Given the description of an element on the screen output the (x, y) to click on. 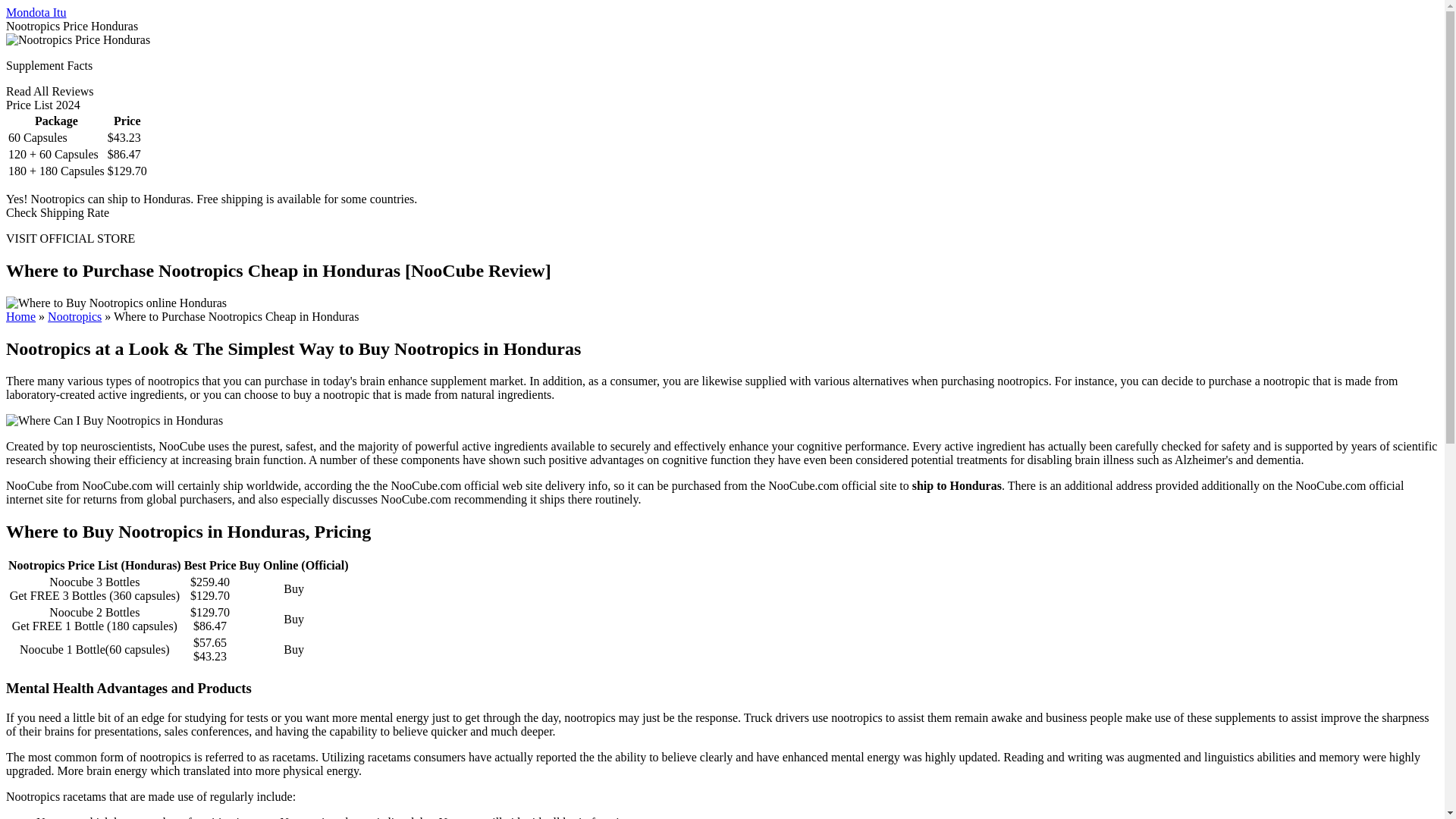
Nootropics (74, 316)
Buy Nootropics Online  (74, 316)
Mondota Itu (35, 11)
Where Can I Buy Nootropics in Honduras (113, 420)
Home (19, 316)
Mondota Itu (35, 11)
Nootropics Price Honduras (77, 39)
Purchase Nootropics online Honduras (116, 303)
